Given the description of an element on the screen output the (x, y) to click on. 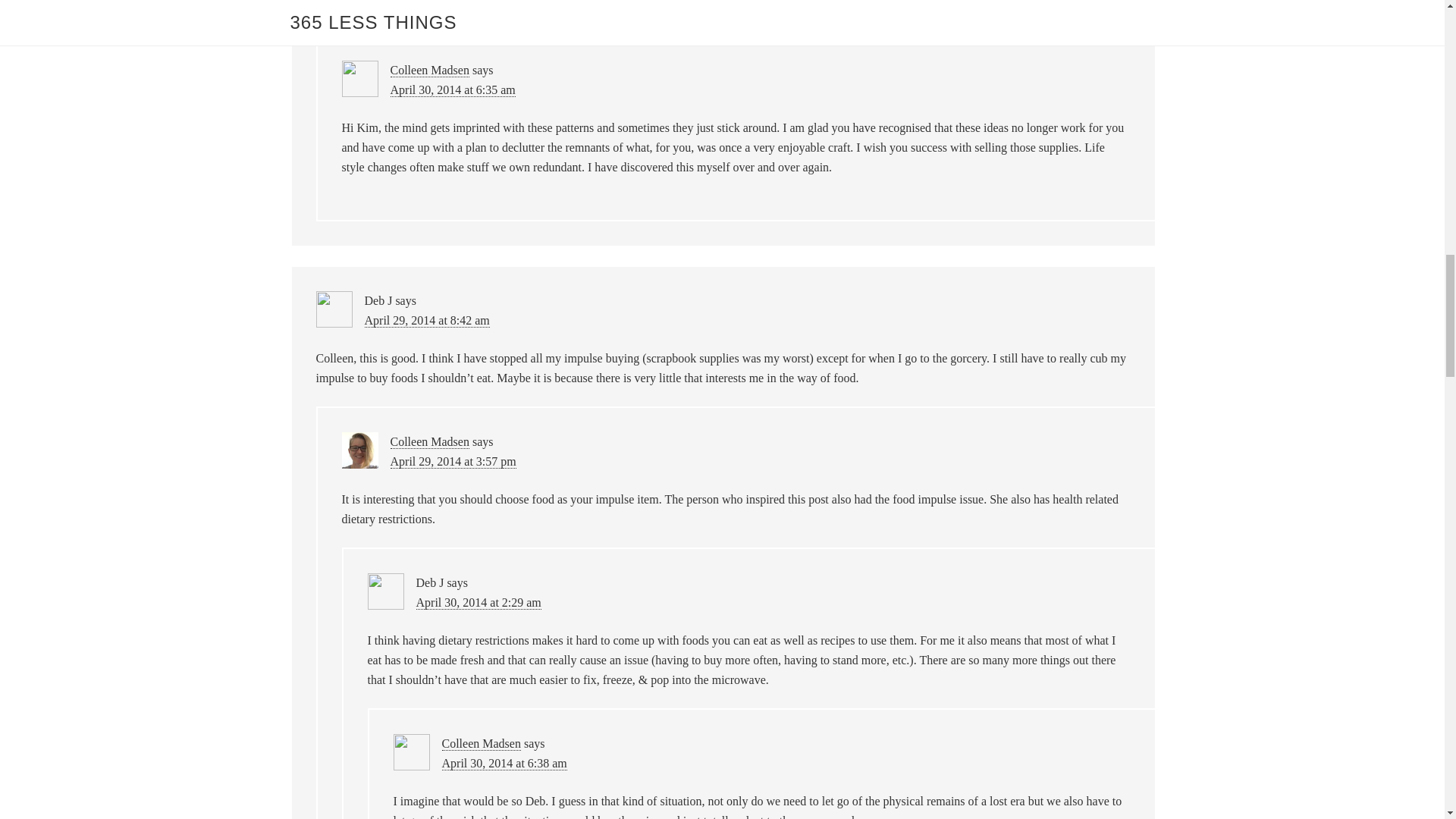
April 29, 2014 at 8:42 am (426, 320)
April 30, 2014 at 6:35 am (452, 90)
Colleen Madsen (429, 69)
April 30, 2014 at 2:29 am (477, 602)
April 30, 2014 at 6:38 am (503, 763)
Colleen Madsen (480, 744)
April 29, 2014 at 3:57 pm (452, 461)
Colleen Madsen (429, 441)
